Given the description of an element on the screen output the (x, y) to click on. 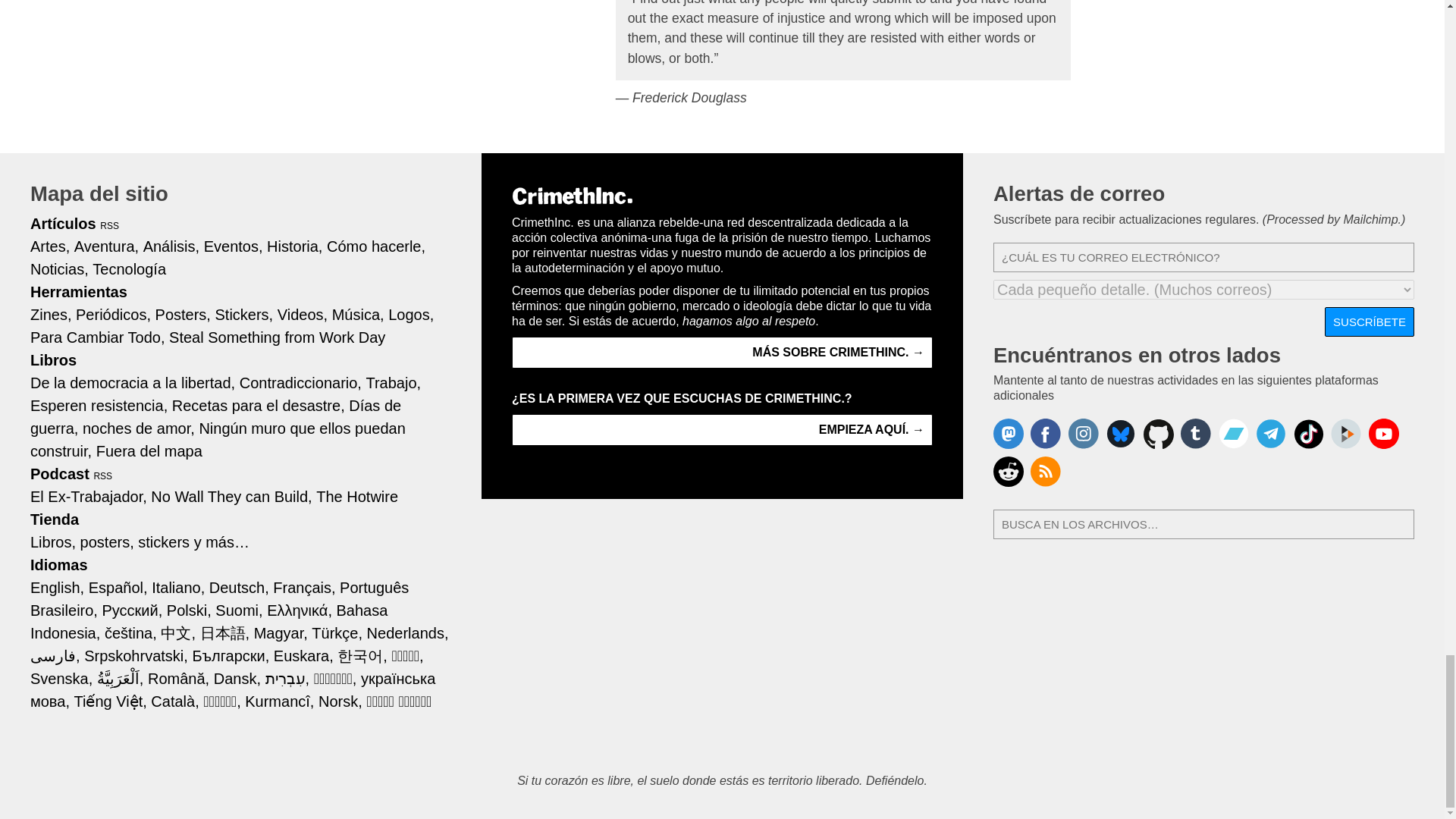
Zines (50, 313)
Herramientas (79, 290)
Stickers (243, 313)
Artes (49, 245)
Noticias (59, 268)
Eventos (233, 245)
RSS (109, 225)
Aventura (106, 245)
Logos (410, 313)
Posters (183, 313)
Videos (302, 313)
Historia (293, 245)
